Given the description of an element on the screen output the (x, y) to click on. 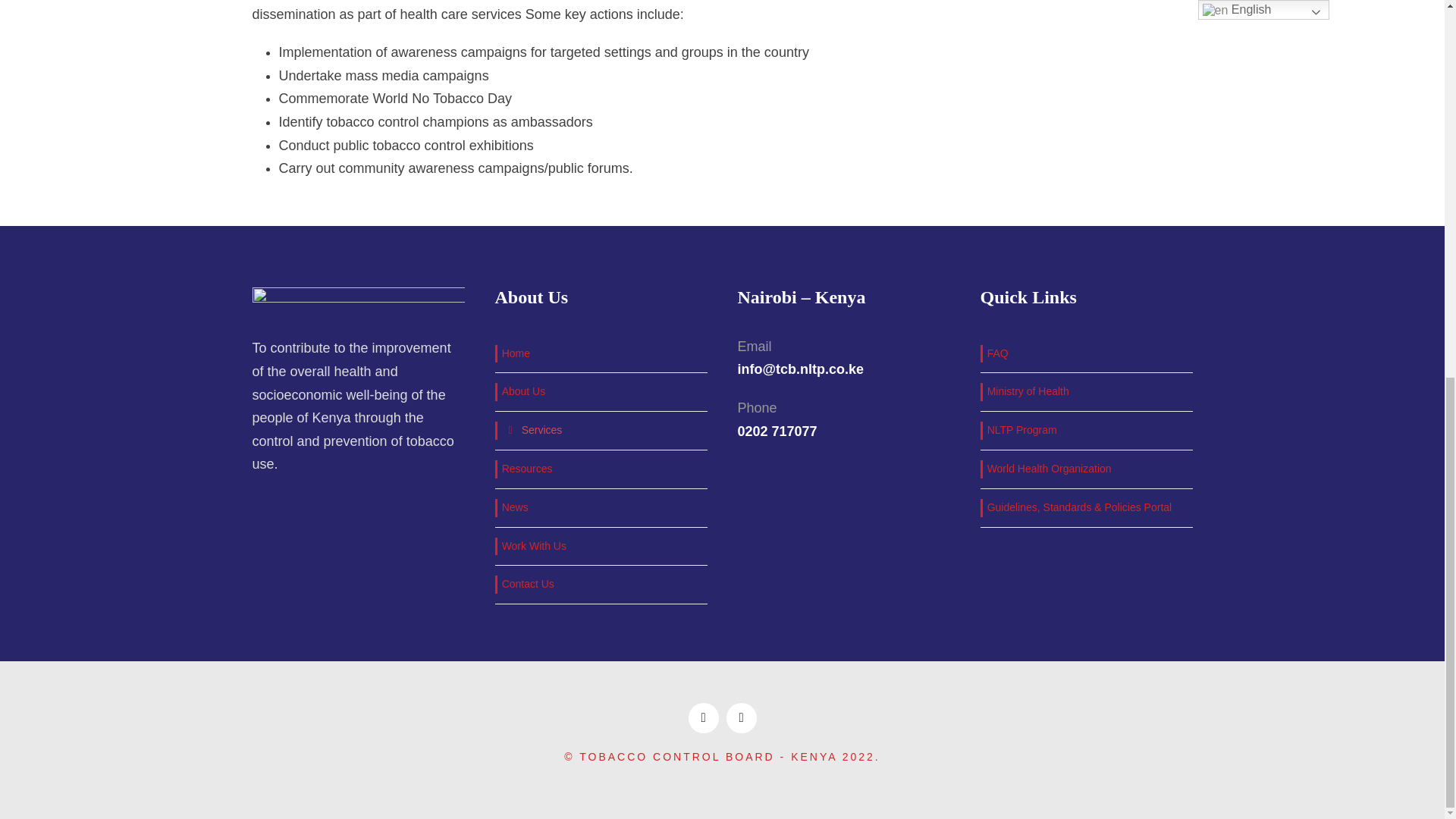
logox1 (357, 304)
twitter (741, 717)
facebook (703, 717)
